Given the description of an element on the screen output the (x, y) to click on. 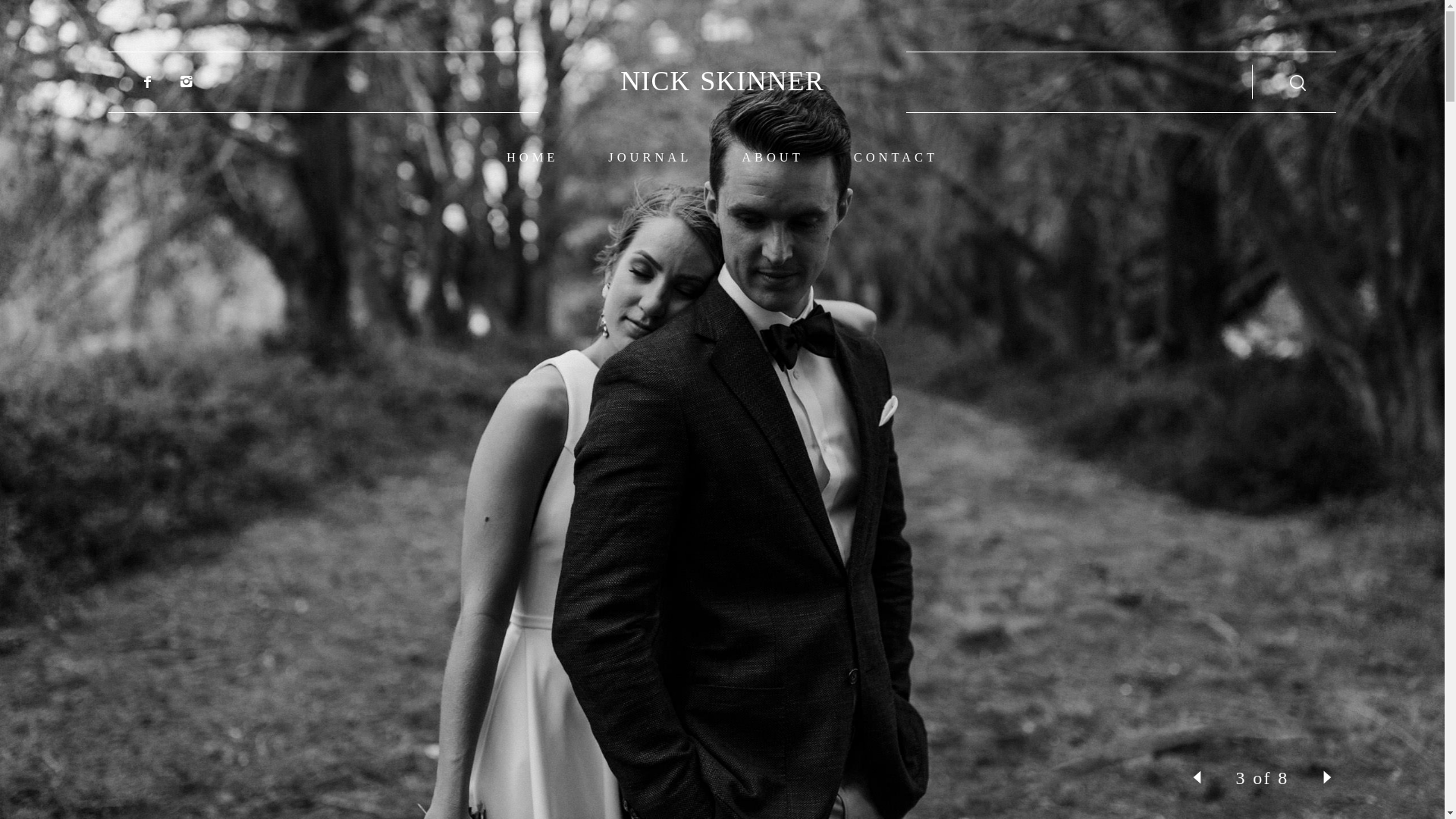
HOME Element type: text (532, 156)
JOURNAL Element type: text (649, 156)
CONTACT Element type: text (895, 156)
ABOUT Element type: text (772, 156)
NICK SKINNER Element type: text (721, 81)
